Given the description of an element on the screen output the (x, y) to click on. 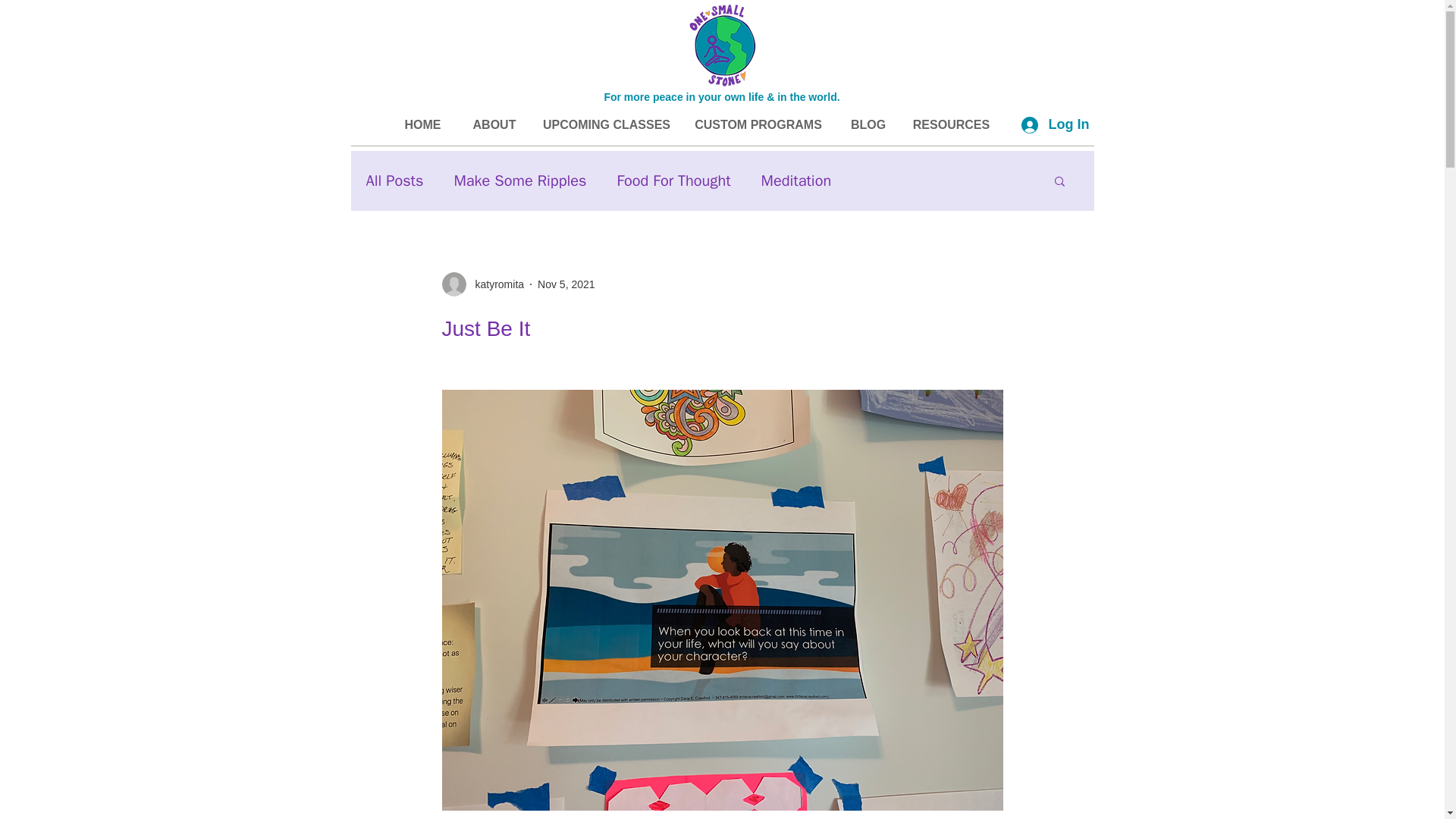
RESOURCES (951, 124)
HOME (422, 124)
Log In (1051, 124)
katyromita (482, 283)
Make Some Ripples (519, 179)
BLOG (868, 124)
katyromita (494, 283)
Nov 5, 2021 (566, 283)
All Posts (394, 179)
ABOUT (494, 124)
